Given the description of an element on the screen output the (x, y) to click on. 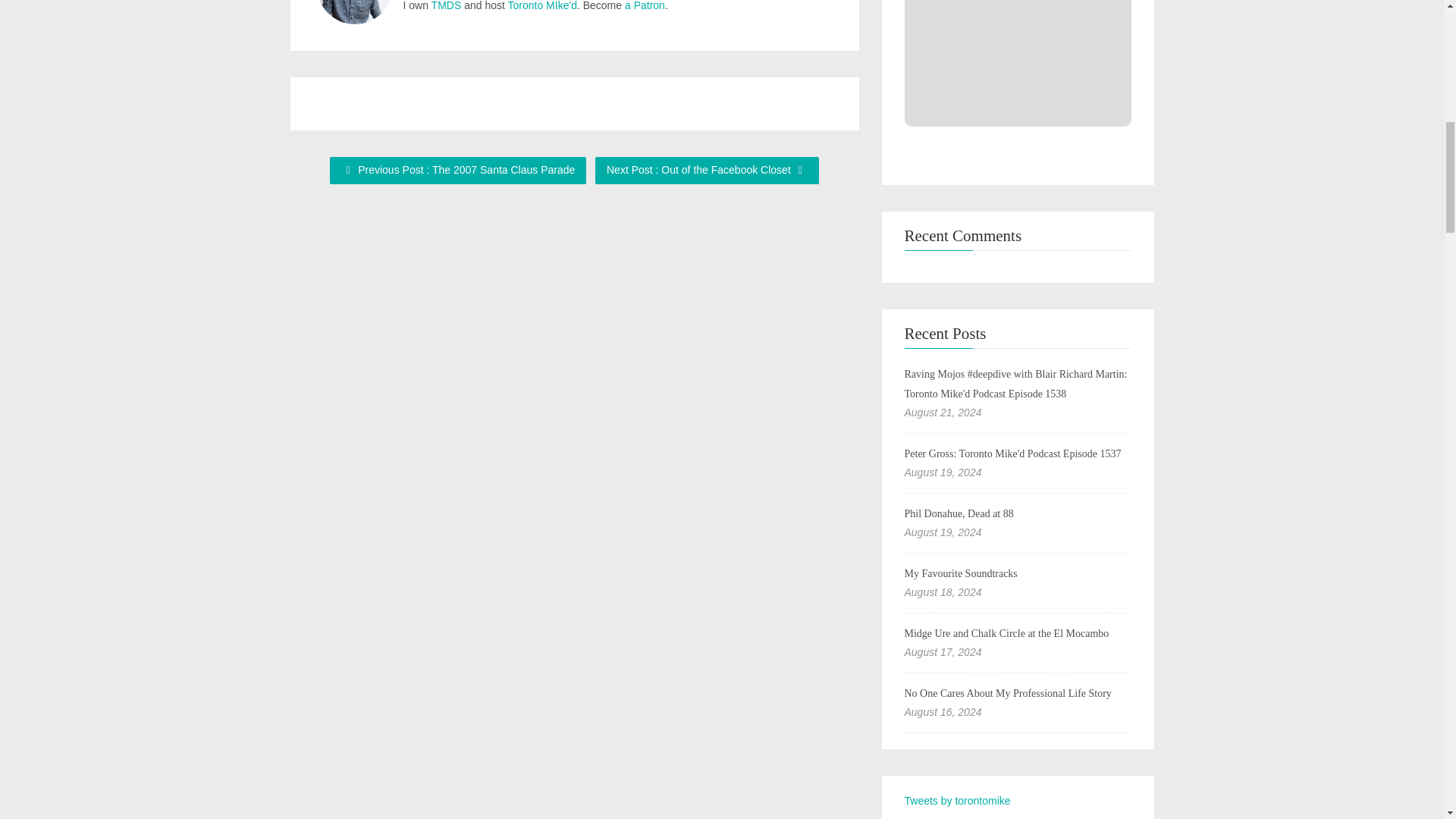
Next Post : Out of the Facebook Closet (706, 170)
My Favourite Soundtracks (960, 573)
No One Cares About My Professional Life Story (1007, 693)
Peter Gross: Toronto Mike'd Podcast Episode 1537 (1012, 453)
Toronto MIke'd (542, 5)
Midge Ure and Chalk Circle at the El Mocambo (1006, 633)
Phil Donahue, Dead at 88 (958, 513)
Previous Post : The 2007 Santa Claus Parade (458, 170)
a Patron (644, 5)
Tweets by torontomike (957, 800)
